Given the description of an element on the screen output the (x, y) to click on. 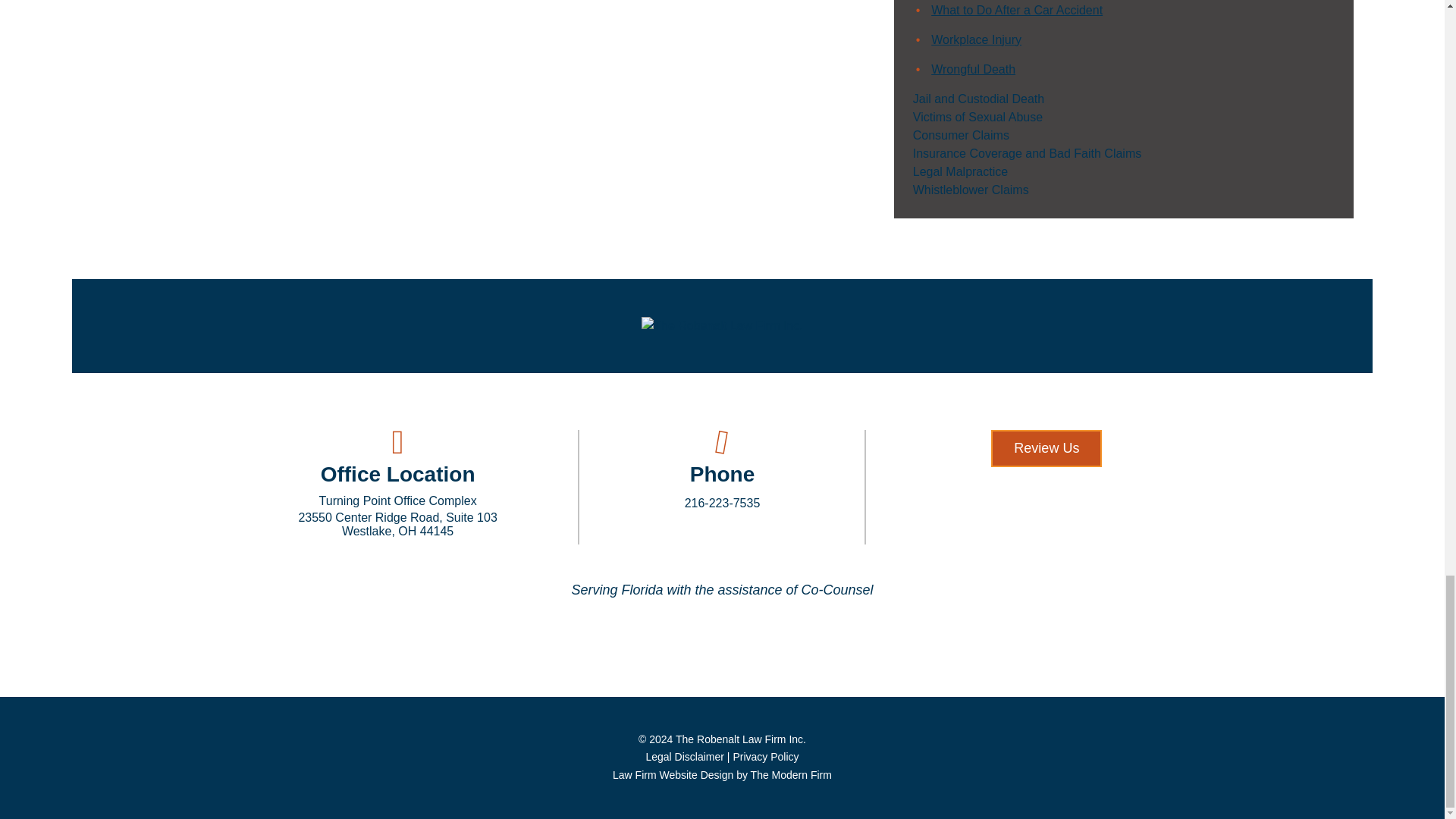
Law Firm Website Design (721, 775)
Disclaimer (684, 756)
